Given the description of an element on the screen output the (x, y) to click on. 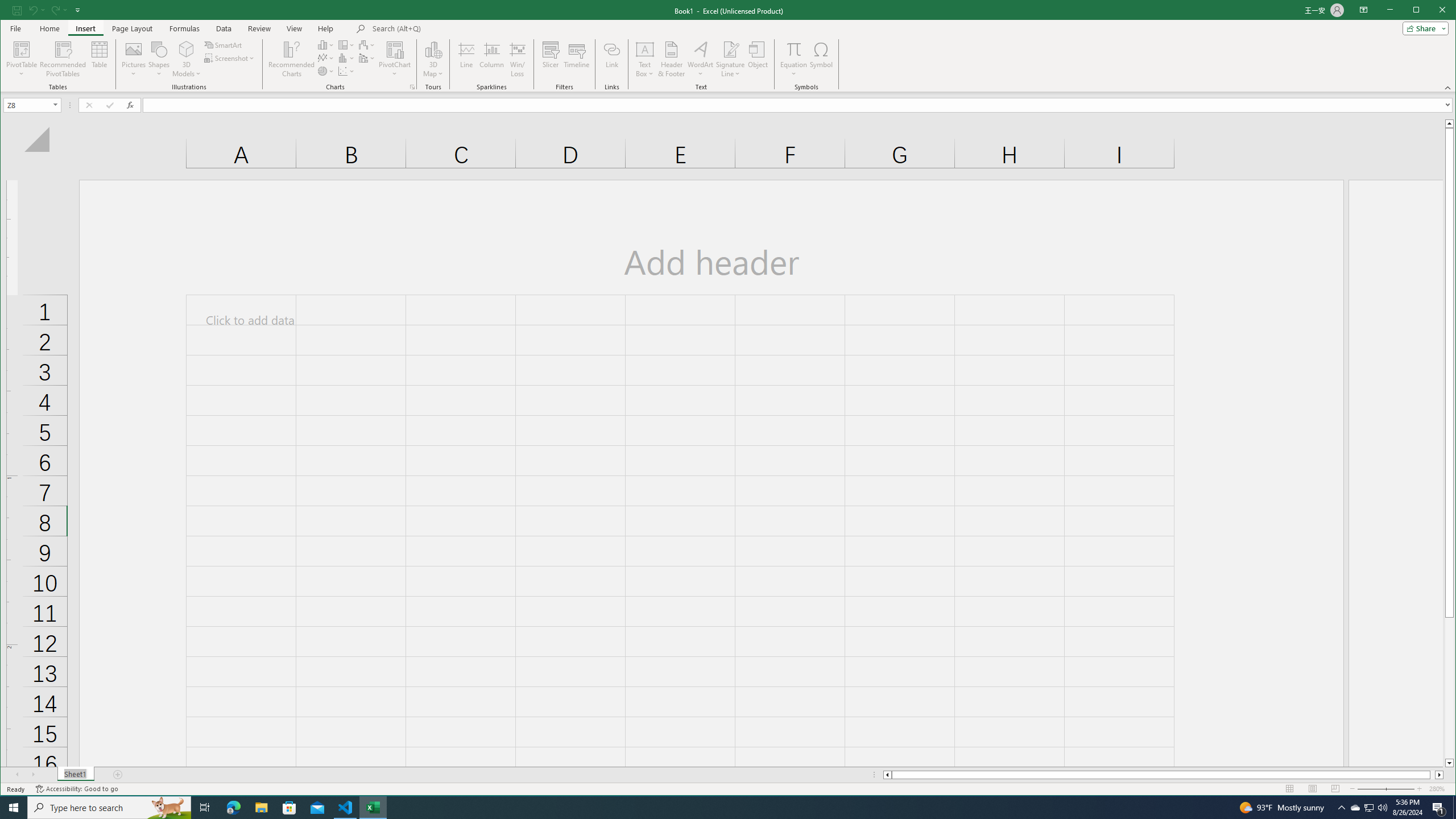
Insert Scatter (X, Y) or Bubble Chart (346, 70)
Shapes (159, 59)
Page down (1449, 687)
Signature Line (729, 48)
Microsoft search (451, 28)
Show desktop (1454, 807)
Screenshot (229, 57)
Excel - 1 running window (373, 807)
Type here to search (108, 807)
